Given the description of an element on the screen output the (x, y) to click on. 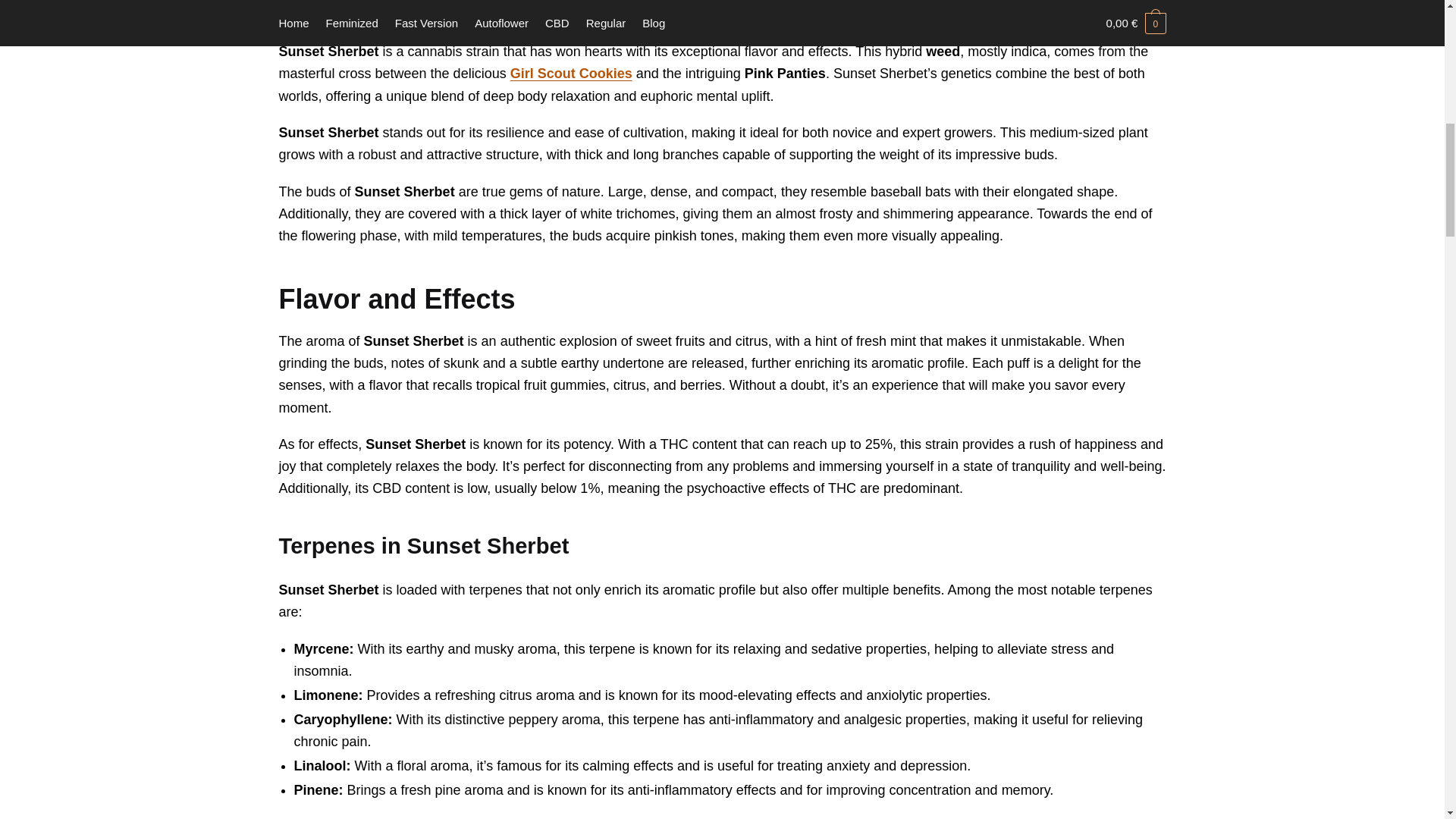
Description (831, 9)
Girl Scout Cookies (613, 9)
Additional information (571, 73)
